Given the description of an element on the screen output the (x, y) to click on. 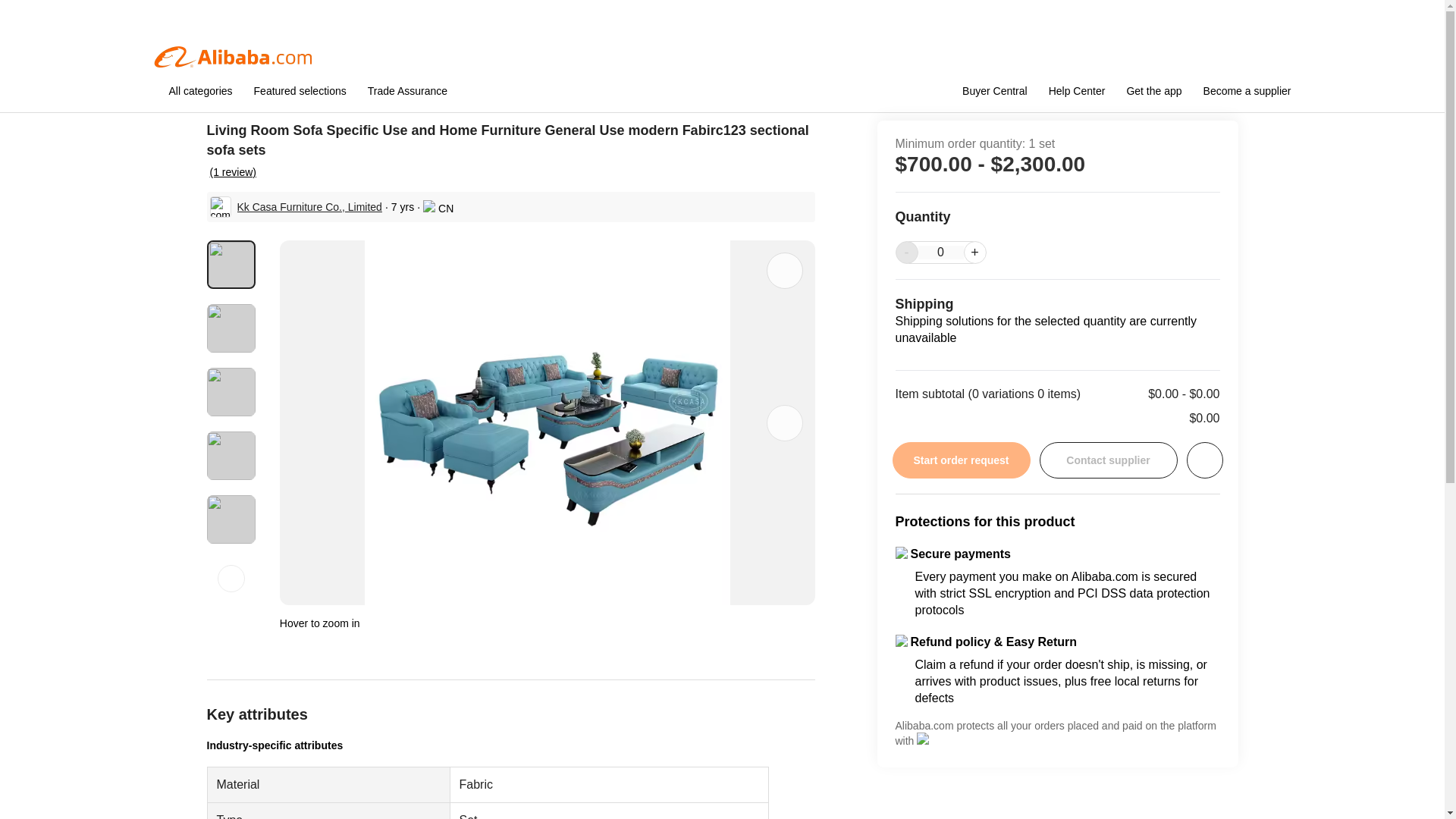
Kk Casa Furniture Co., Limited (308, 206)
Start order request (960, 460)
- (906, 251)
0 (939, 252)
Kk Casa Furniture Co., Limited (308, 206)
Contact supplier (1107, 460)
